Given the description of an element on the screen output the (x, y) to click on. 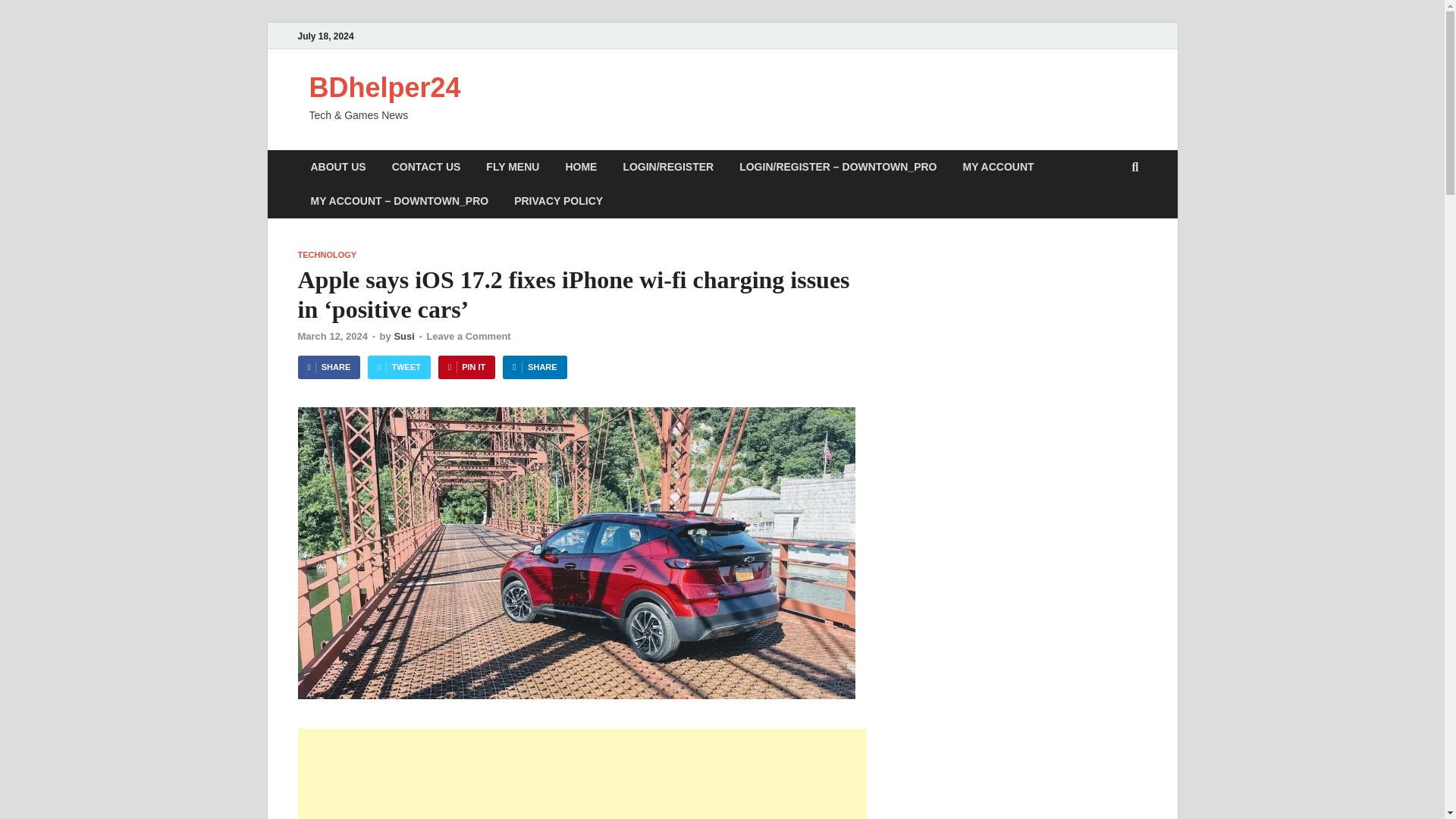
Susi (403, 336)
SHARE (328, 367)
PIN IT (466, 367)
PRIVACY POLICY (557, 201)
FLY MENU (512, 166)
TECHNOLOGY (326, 254)
March 12, 2024 (332, 336)
Leave a Comment (468, 336)
MY ACCOUNT (997, 166)
BDhelper24 (384, 87)
Advertisement (581, 773)
ABOUT US (337, 166)
CONTACT US (426, 166)
TWEET (399, 367)
SHARE (534, 367)
